Given the description of an element on the screen output the (x, y) to click on. 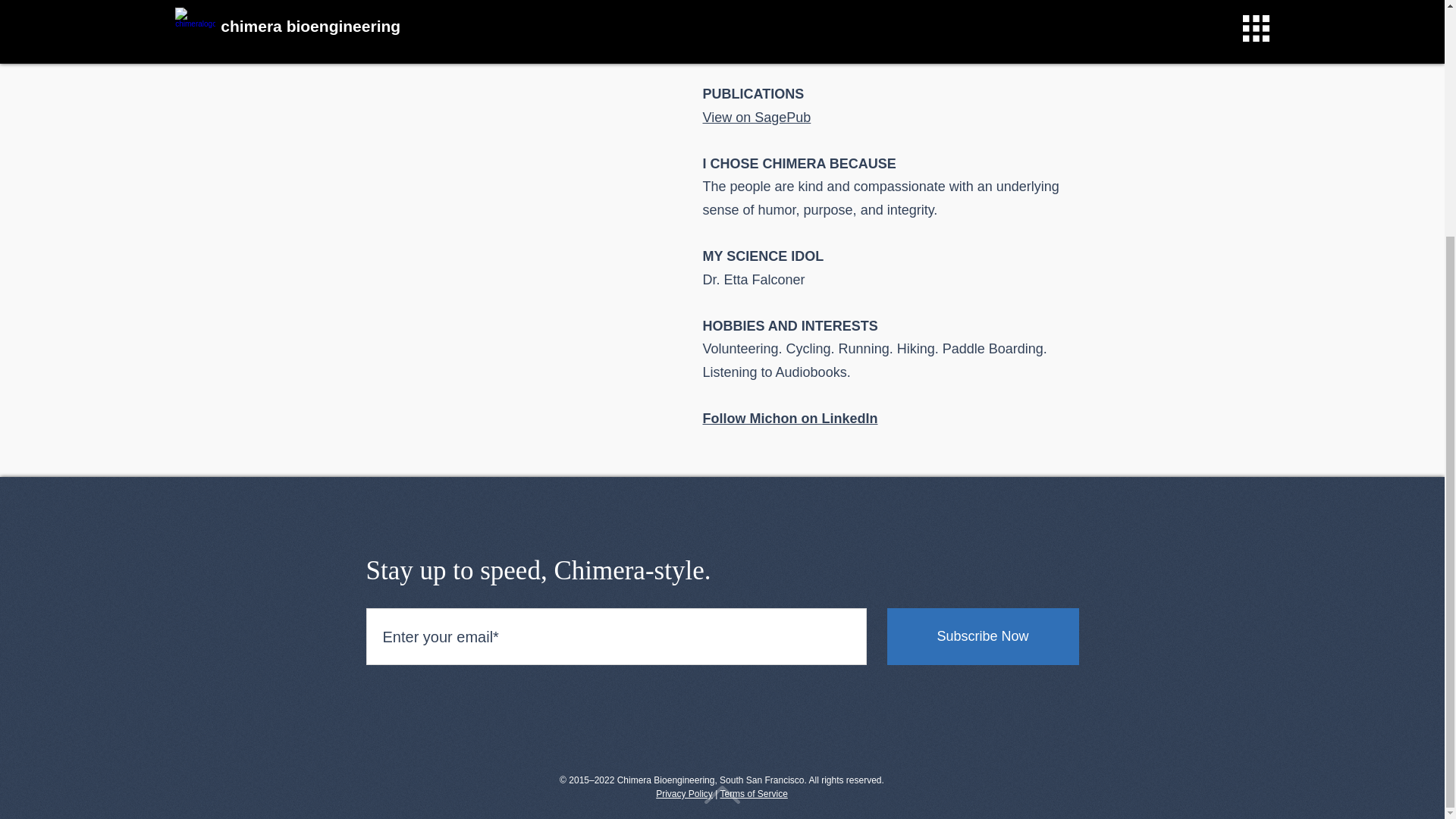
Privacy Policy (684, 793)
View on SagePub (755, 117)
Follow Michon on LinkedIn (789, 418)
Subscribe Now (982, 636)
Terms of Service (753, 793)
